Given the description of an element on the screen output the (x, y) to click on. 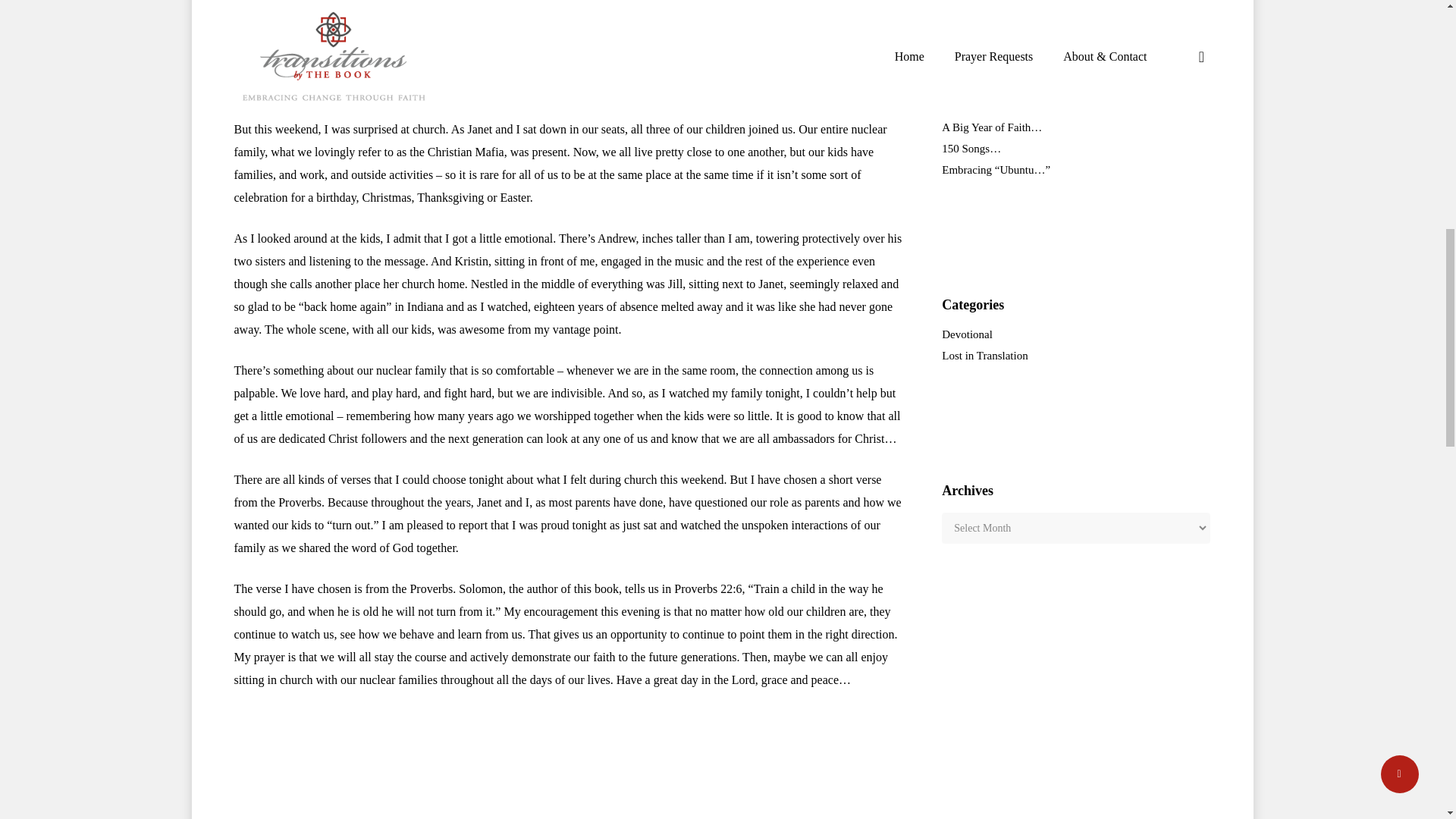
Devotional (1075, 334)
Lost in Translation (1075, 355)
